Given the description of an element on the screen output the (x, y) to click on. 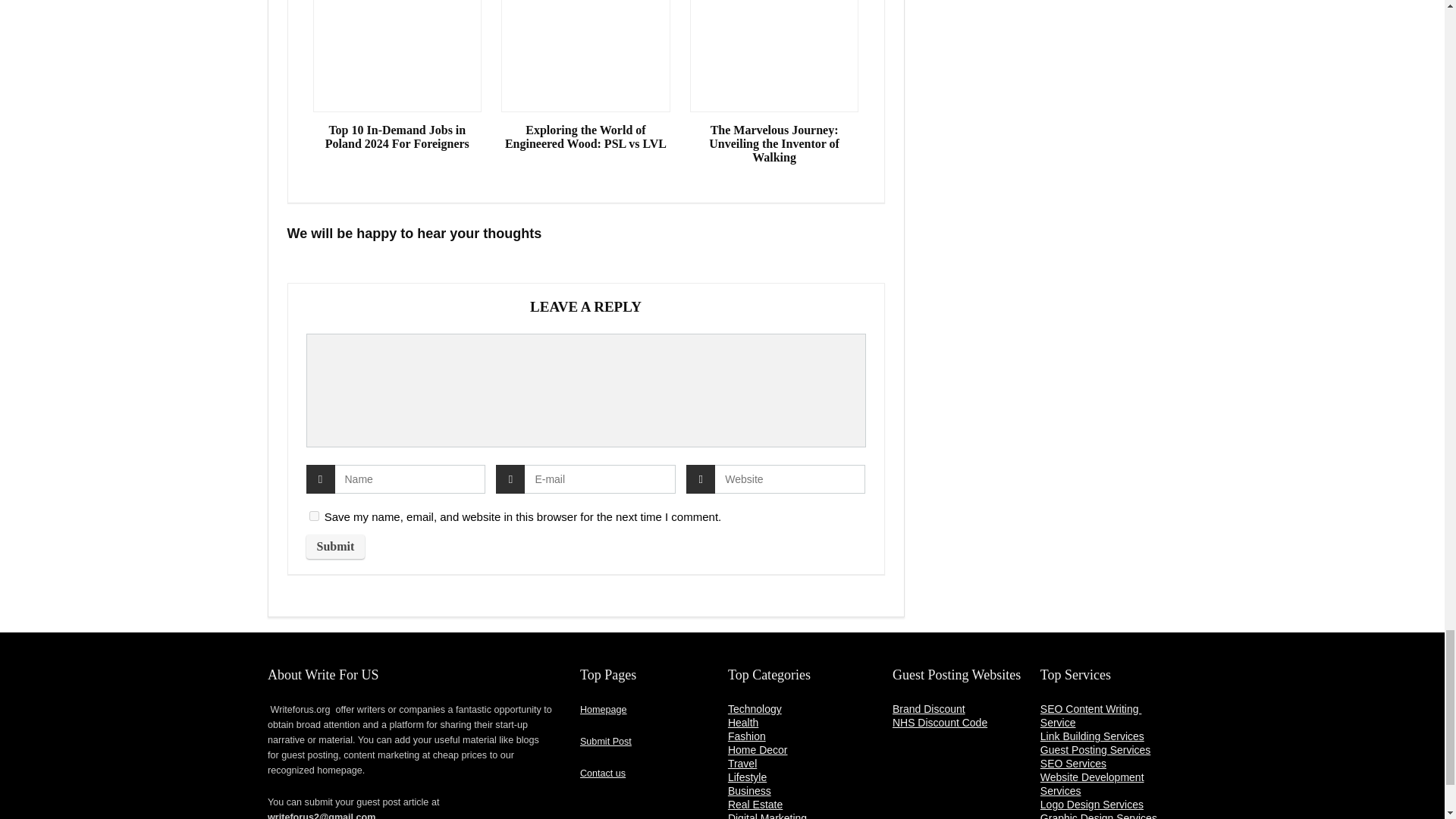
Exploring the World of Engineered Wood: PSL vs LVL (584, 136)
The Marvelous Journey: Unveiling the Inventor of Walking (774, 143)
Top 10 In-Demand Jobs in Poland 2024  For Foreigners (397, 136)
yes (313, 515)
Submit (335, 546)
